Given the description of an element on the screen output the (x, y) to click on. 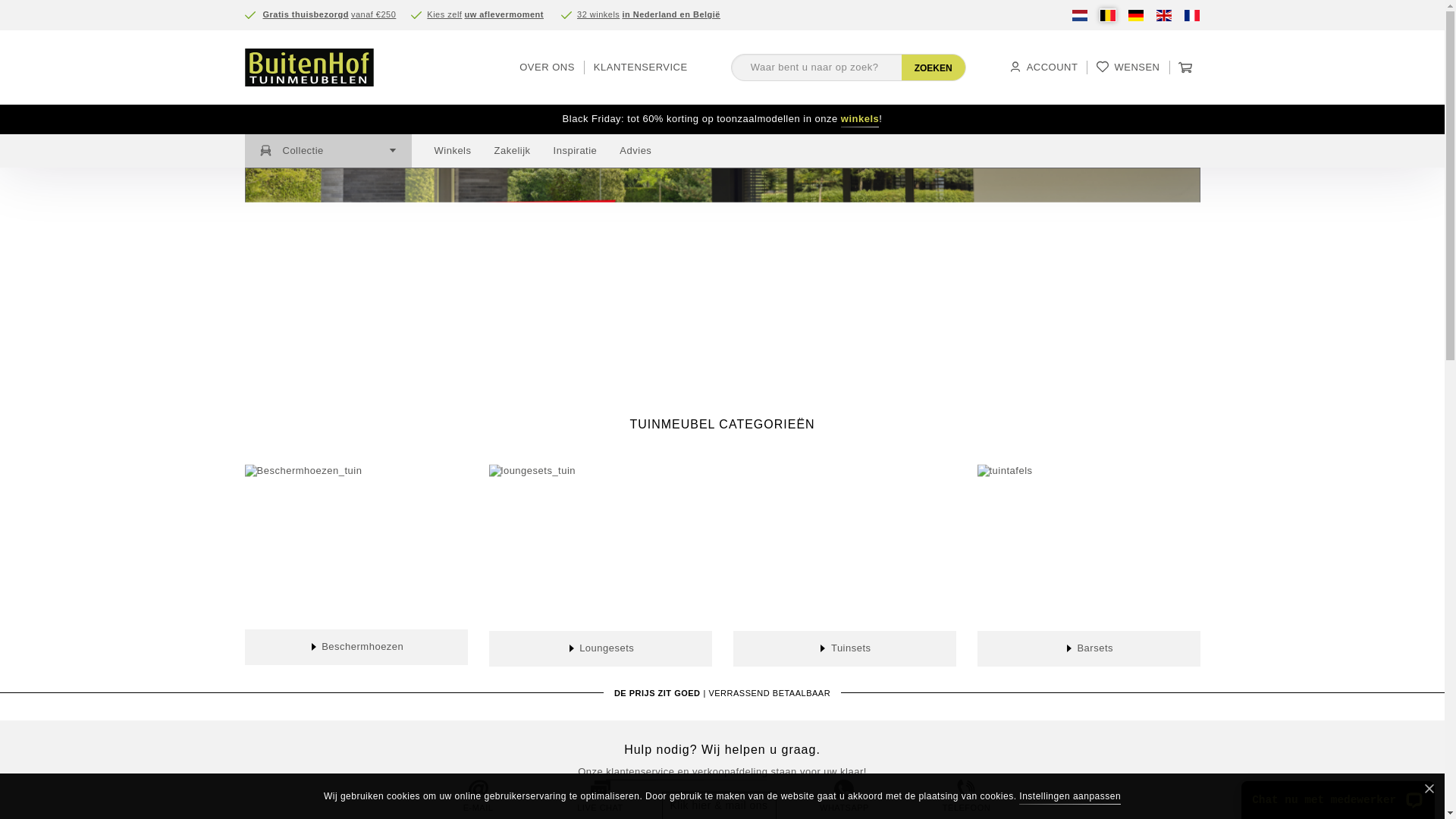
 Nederlands (Nederland) / Nederlands (Nederland) Element type: hover (1078, 14)
Barsets Element type: text (1088, 648)
Instellingen aanpassen Element type: text (1069, 795)
Kies zelf
uw aflevermoment Element type: text (486, 14)
OVER ONS Element type: text (546, 67)
Zakelijk Element type: text (512, 150)
Buitenhof Tuinmeubelen Element type: hover (308, 67)
winkels Element type: text (859, 118)
KLANTENSERVICE Element type: text (640, 67)
ACCOUNT Element type: text (1043, 67)
Collectie Element type: text (327, 150)
klantenservice en verkoopafdeling Element type: text (686, 771)
English Element type: hover (1163, 14)
LIVE CHAT Element type: text (600, 796)
Advies Element type: text (635, 150)
 Deutsch (Deutschland) / Duits (Duitsland) Element type: hover (1134, 14)
Winkels Element type: text (451, 150)
Klik hier & mail ons Element type: text (719, 805)
Francais Element type: hover (1191, 14)
WENSEN Element type: text (1127, 67)
Tuinsets Element type: text (843, 648)
Buitenhof Tuinmeubelen Element type: hover (327, 67)
Loungesets Element type: text (600, 648)
ZOEKEN Element type: text (933, 67)
TELEFOON Element type: text (966, 796)
Beschermhoezen Element type: text (356, 646)
WHATSAPP Element type: text (844, 796)
Inspiratie Element type: text (575, 150)
